Given the description of an element on the screen output the (x, y) to click on. 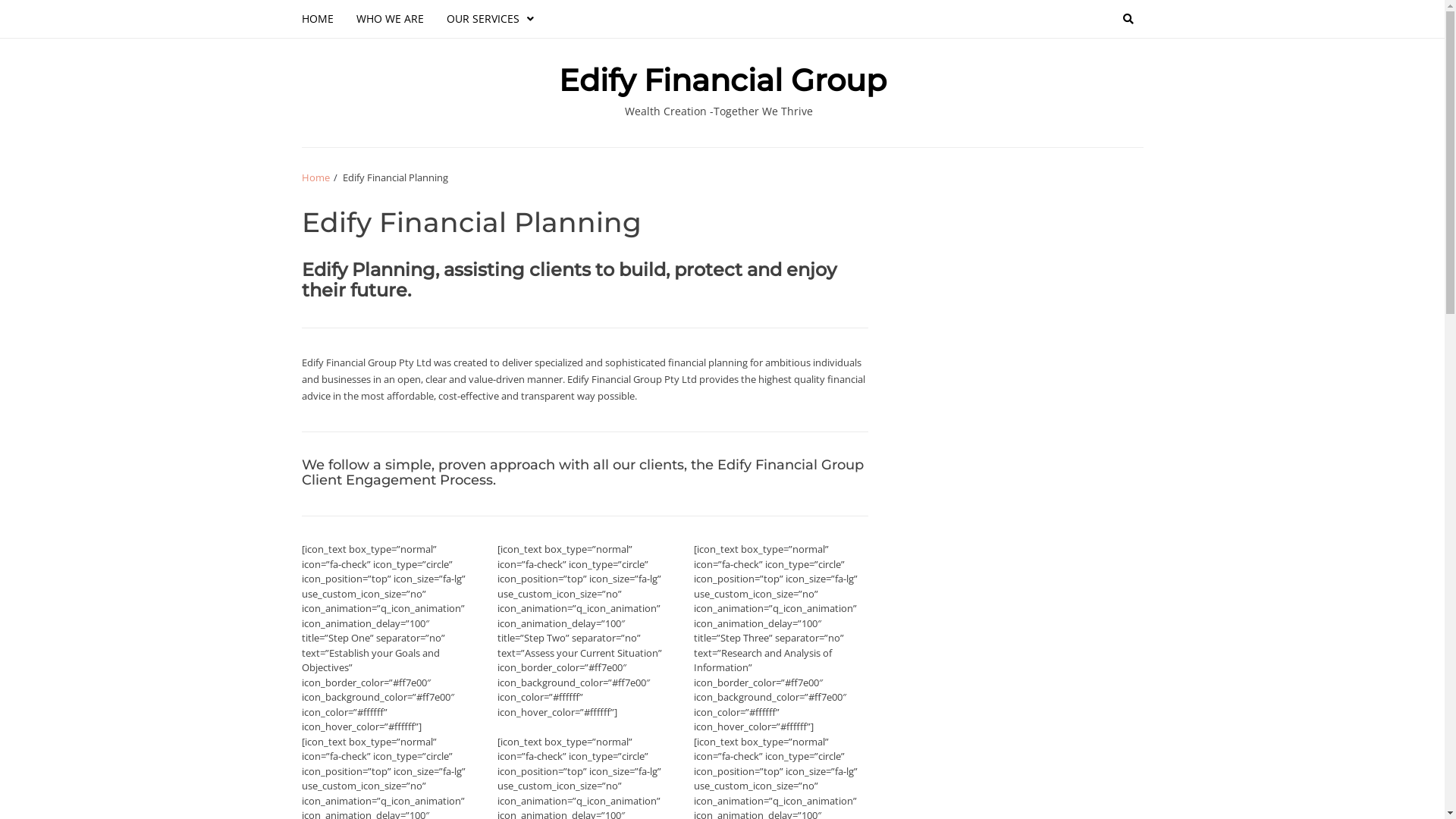
HOME Element type: text (323, 18)
Search Element type: text (1101, 75)
Search Element type: hover (1128, 18)
Home Element type: text (315, 177)
OUR SERVICES Element type: text (490, 18)
Edify Financial Group Element type: text (721, 79)
WHO WE ARE Element type: text (389, 18)
